Given the description of an element on the screen output the (x, y) to click on. 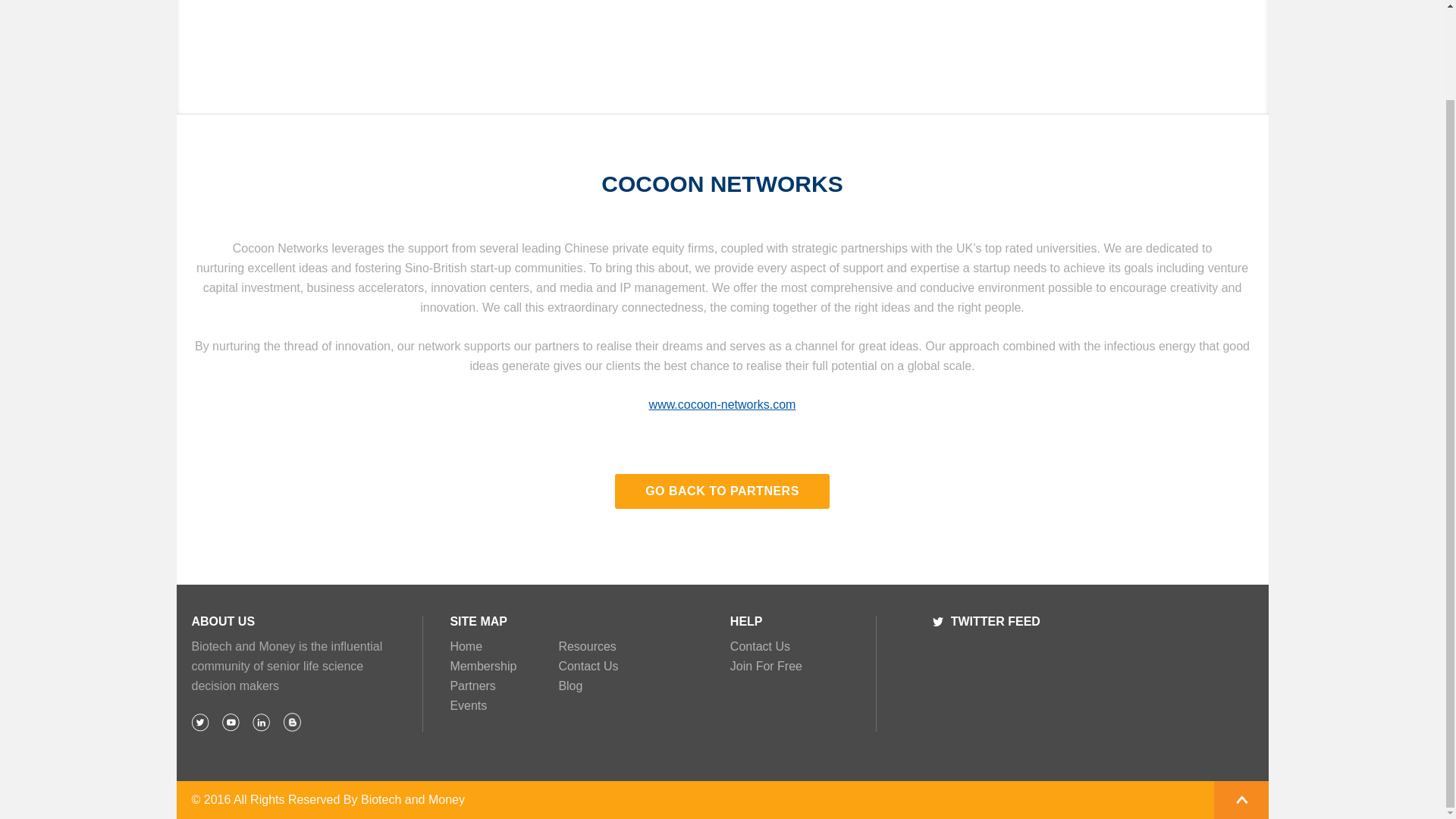
Twitter (199, 722)
Home (501, 646)
Twitter (938, 621)
www.cocoon-networks.com (722, 404)
GO BACK TO PARTNERS (721, 491)
Linkedin (260, 722)
Blog (292, 722)
Youtube (231, 722)
